Given the description of an element on the screen output the (x, y) to click on. 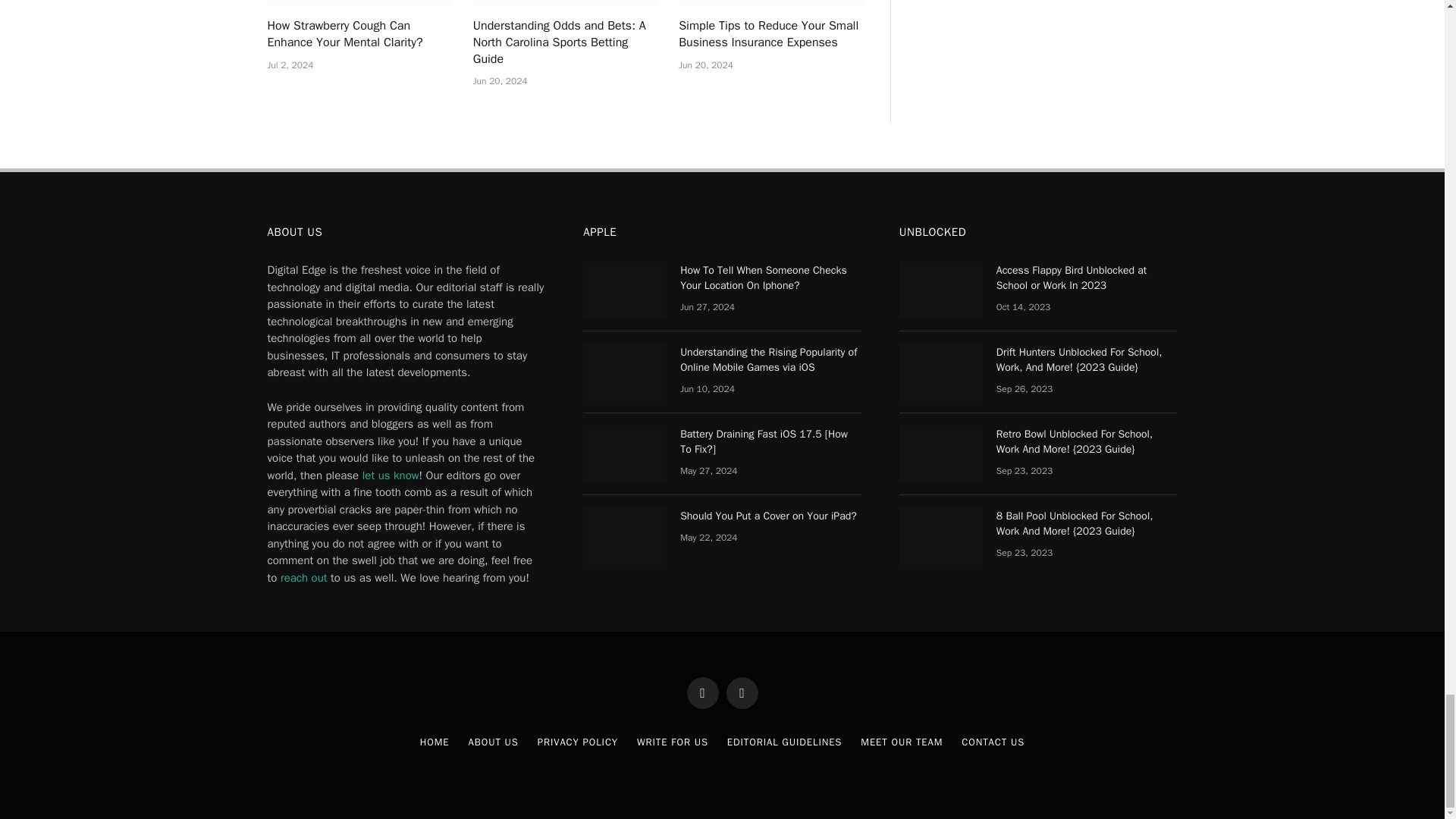
How Strawberry Cough Can Enhance Your Mental Clarity? (359, 2)
Simple Tips to Reduce Your Small Business Insurance Expenses (771, 2)
